Given the description of an element on the screen output the (x, y) to click on. 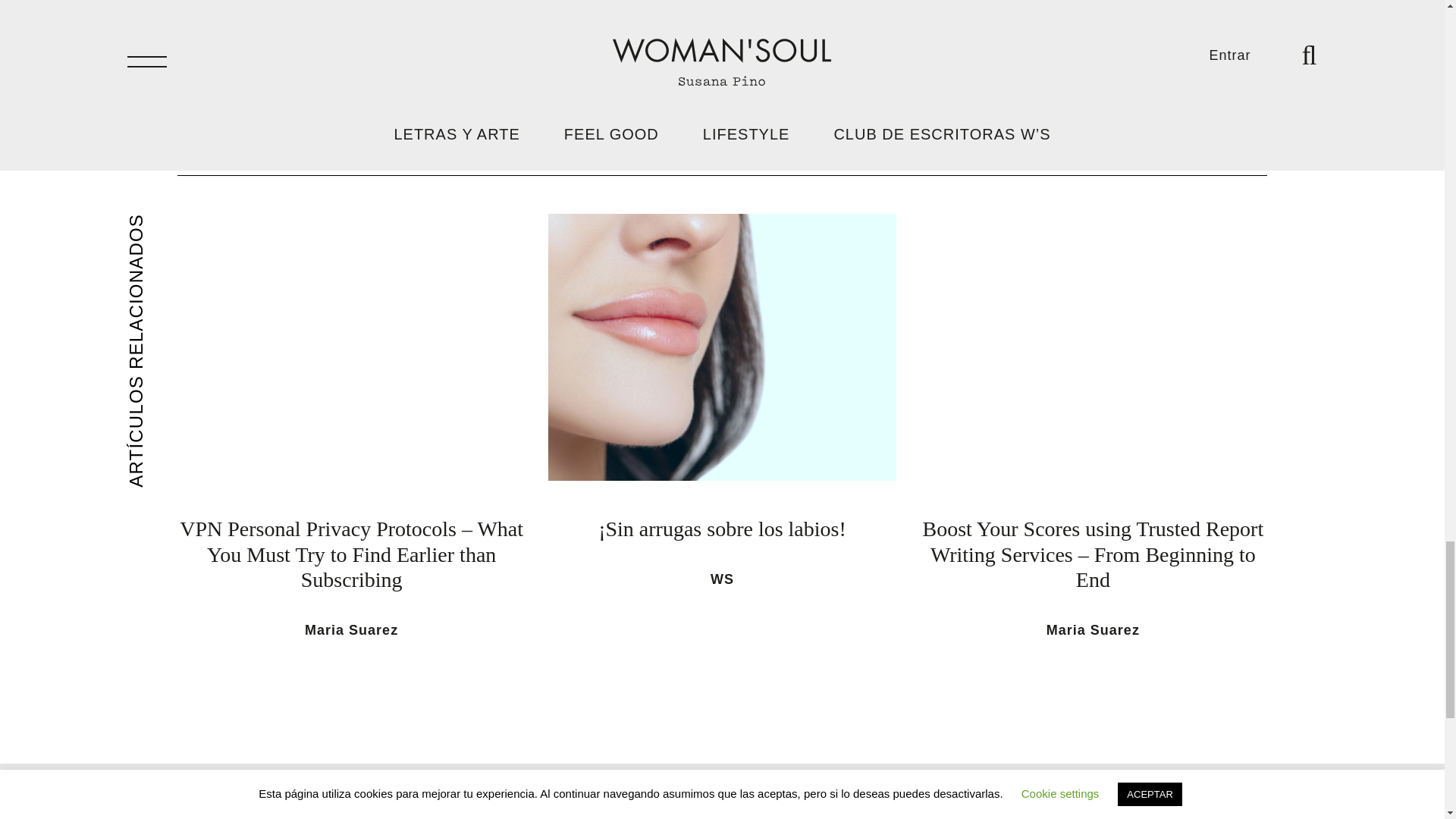
Maria Suarez (350, 630)
